Given the description of an element on the screen output the (x, y) to click on. 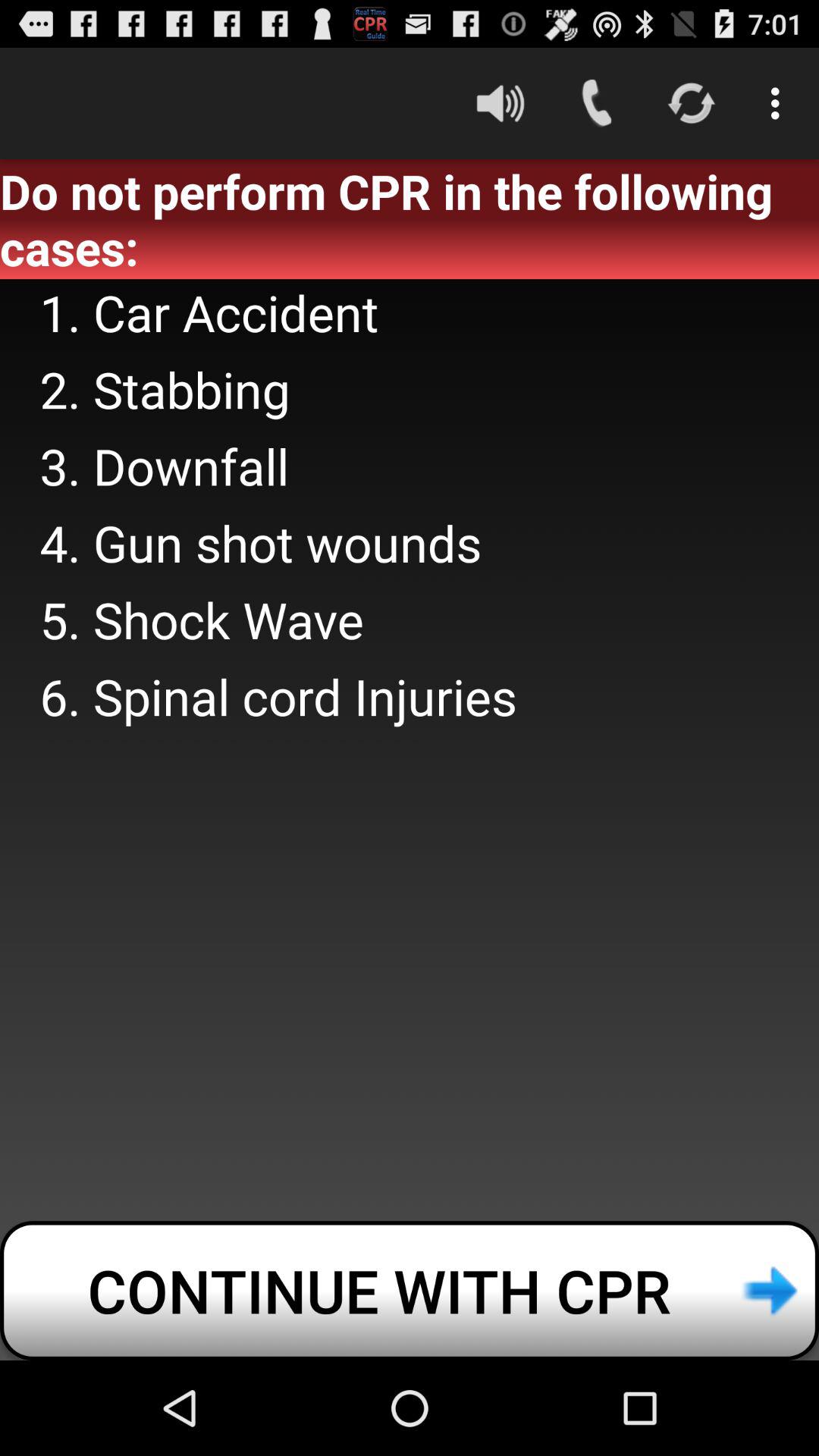
scroll to the continue with cpr icon (409, 1290)
